Given the description of an element on the screen output the (x, y) to click on. 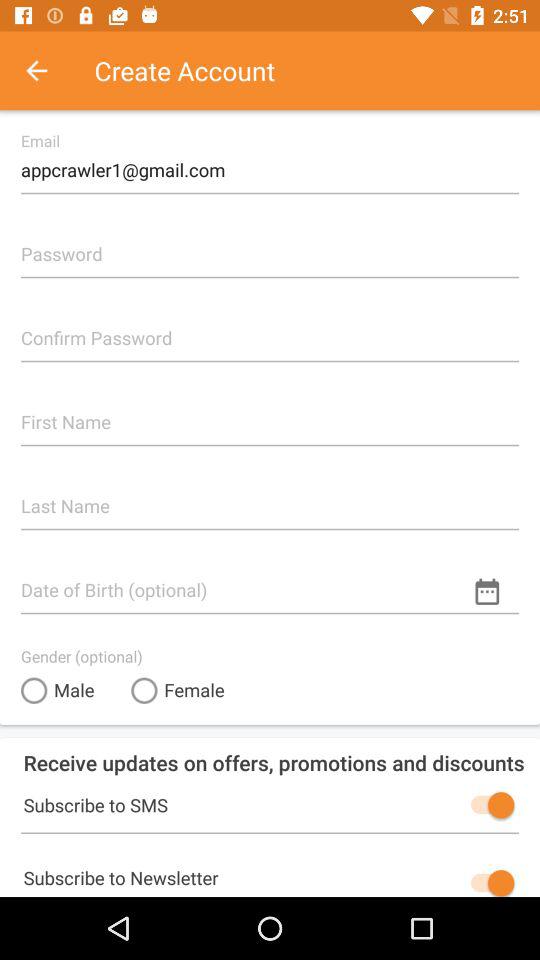
enter birthdate (270, 581)
